Given the description of an element on the screen output the (x, y) to click on. 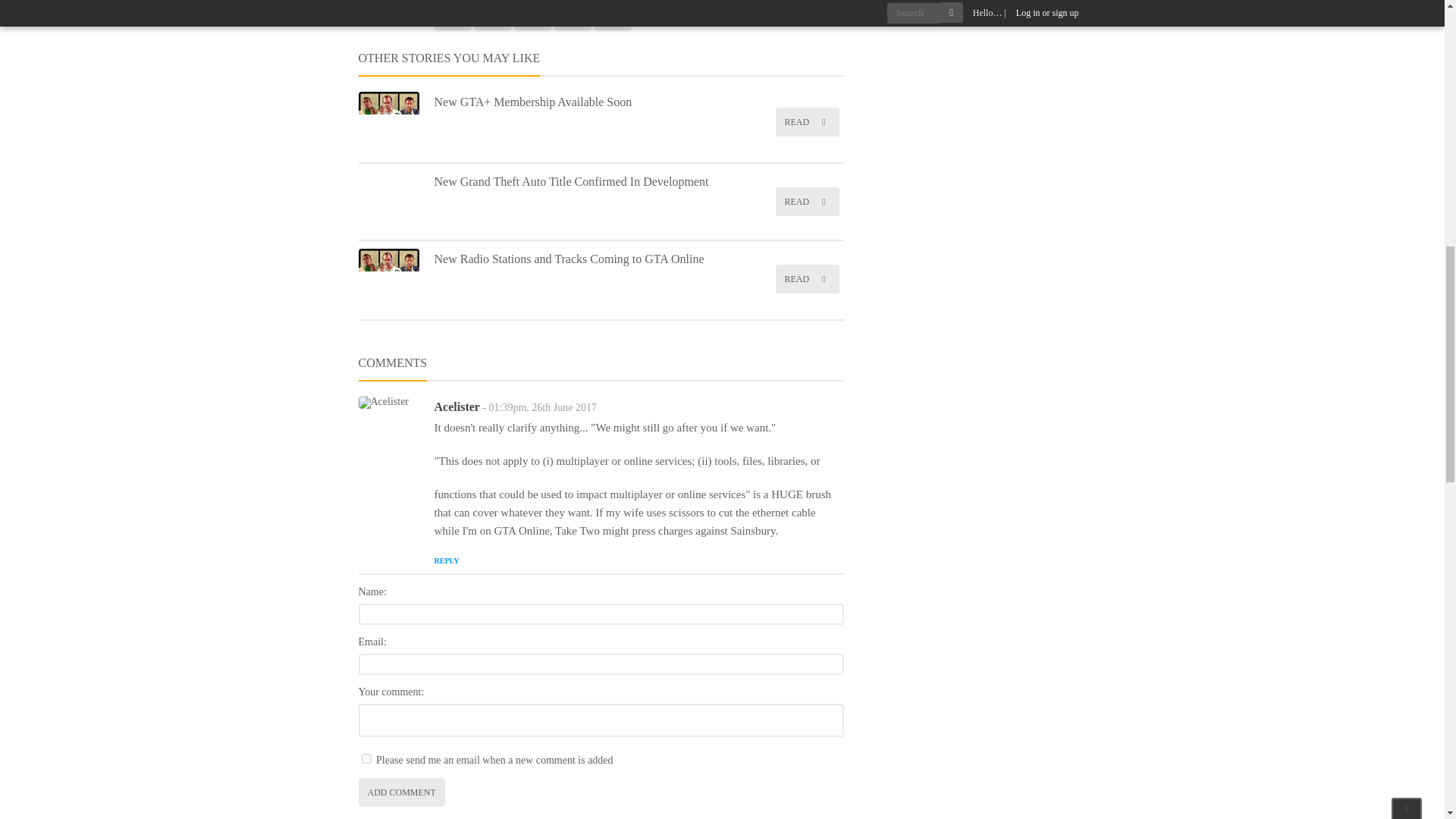
READ (806, 278)
on (366, 758)
New Radio Stations and Tracks Coming to GTA Online (568, 258)
READ (806, 201)
New Grand Theft Auto Title Confirmed In Development (570, 181)
READ (806, 121)
